Given the description of an element on the screen output the (x, y) to click on. 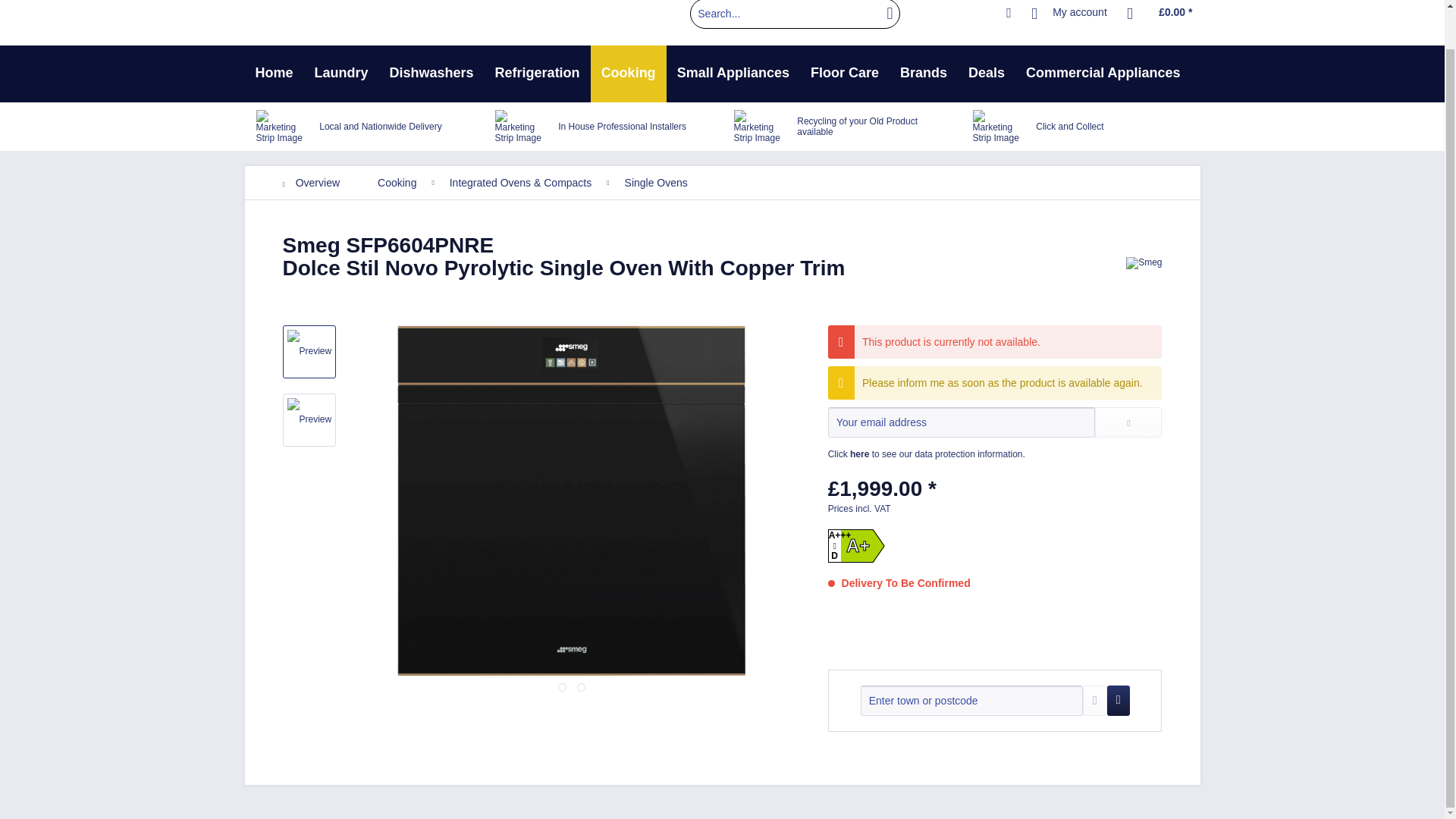
Brands (923, 73)
Home (273, 73)
Laundry (341, 73)
Dishwashers (431, 73)
Laundry (341, 73)
My account (1070, 14)
Cooking (628, 73)
Home (273, 73)
Small Appliances (732, 73)
Commercial Appliances (1102, 73)
Small Appliances (732, 73)
Floor Care (844, 73)
My account (1070, 14)
Brands (923, 73)
Refrigeration (537, 73)
